Given the description of an element on the screen output the (x, y) to click on. 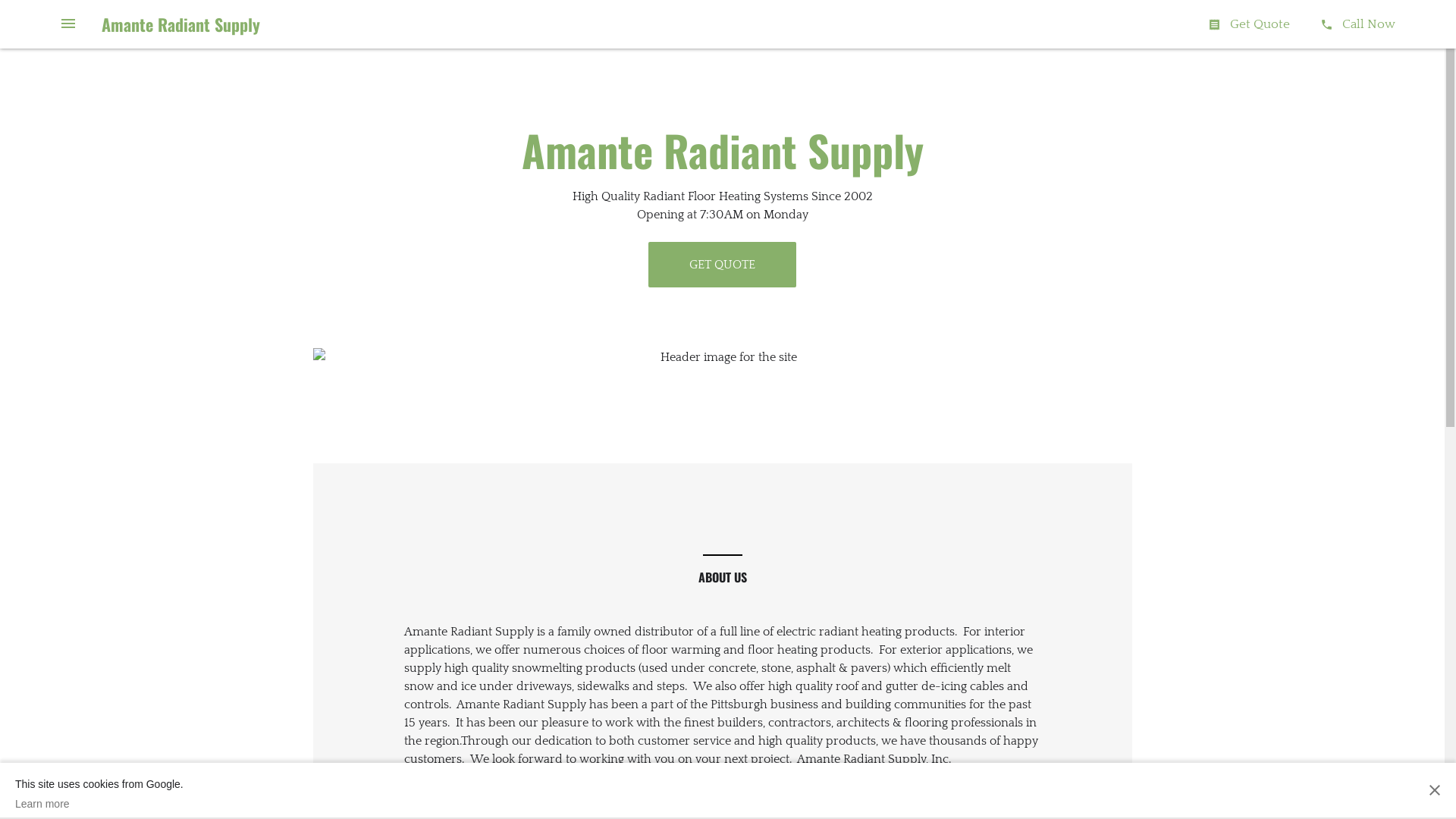
GET QUOTE Element type: text (722, 264)
Amante Radiant Supply Element type: text (180, 24)
Learn more Element type: text (99, 803)
